Given the description of an element on the screen output the (x, y) to click on. 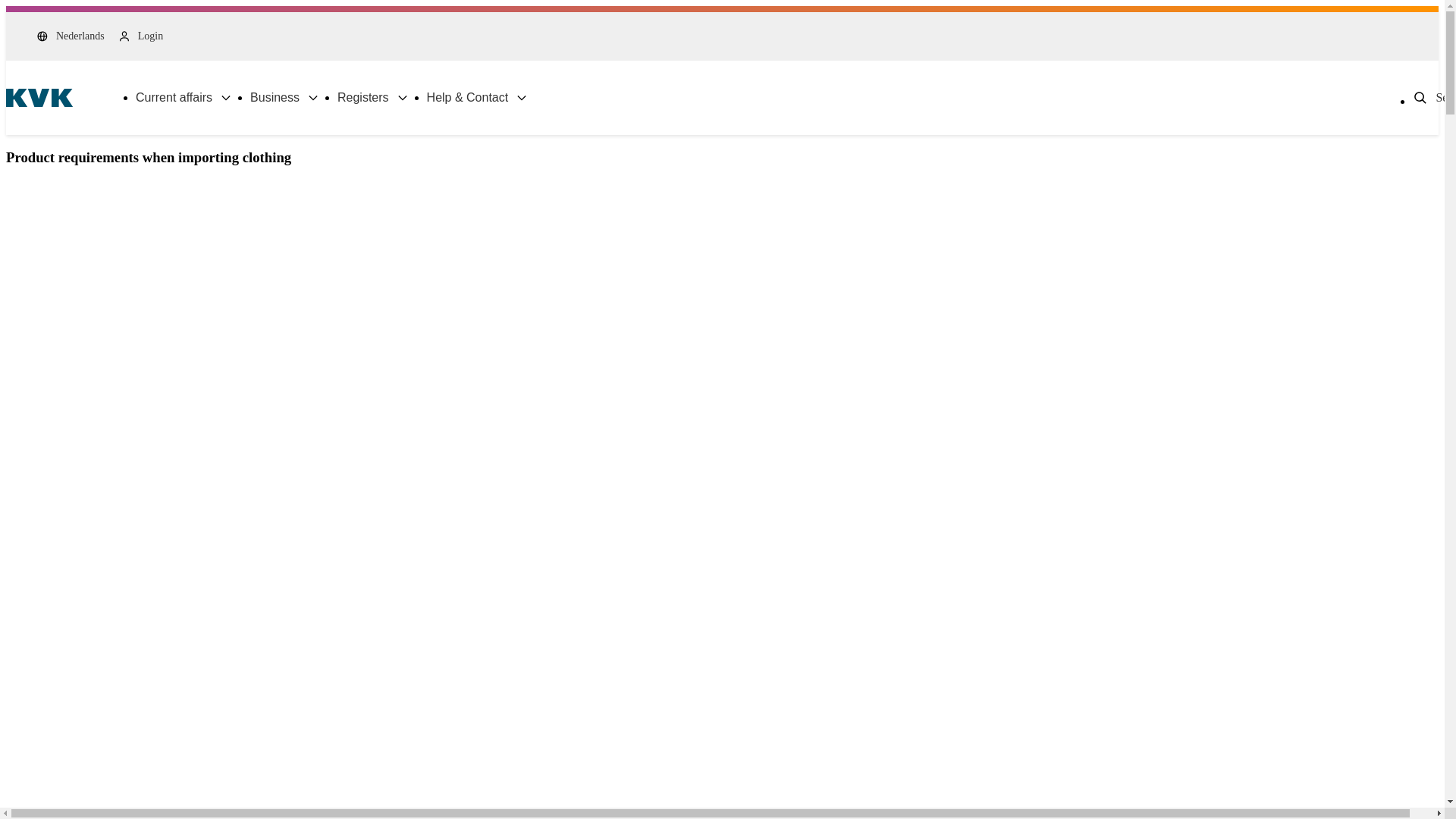
Nederlands (70, 36)
Business (284, 97)
Registers (373, 97)
Login (140, 36)
Go to the homepage of kvk.nl (39, 97)
Current affairs (183, 97)
